Given the description of an element on the screen output the (x, y) to click on. 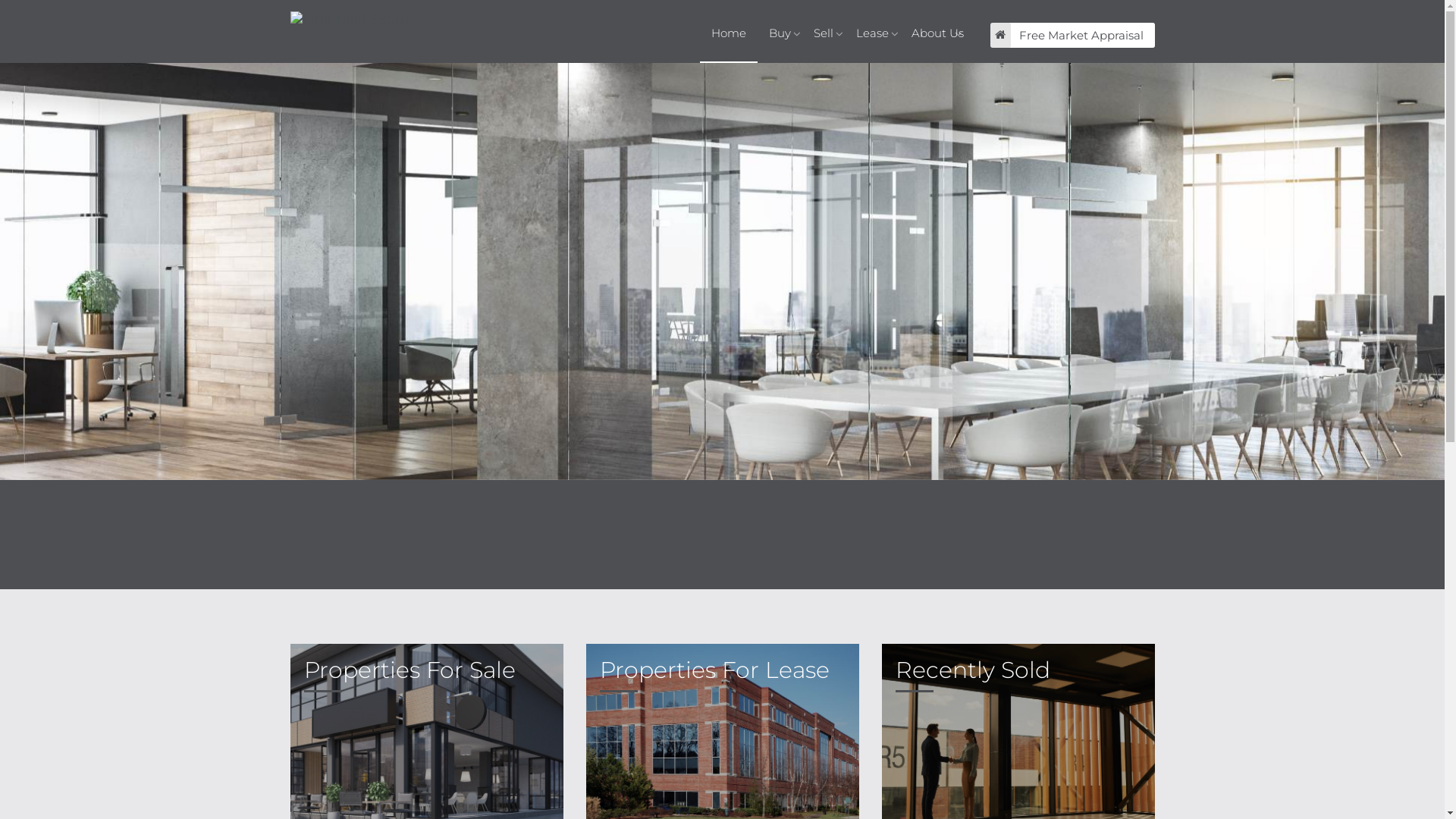
Home Element type: text (727, 32)
Buy Element type: text (778, 32)
Sell Element type: text (823, 32)
Free Market Appraisal Element type: text (1072, 34)
About Us Element type: text (931, 32)
Lease Element type: text (872, 32)
